Given the description of an element on the screen output the (x, y) to click on. 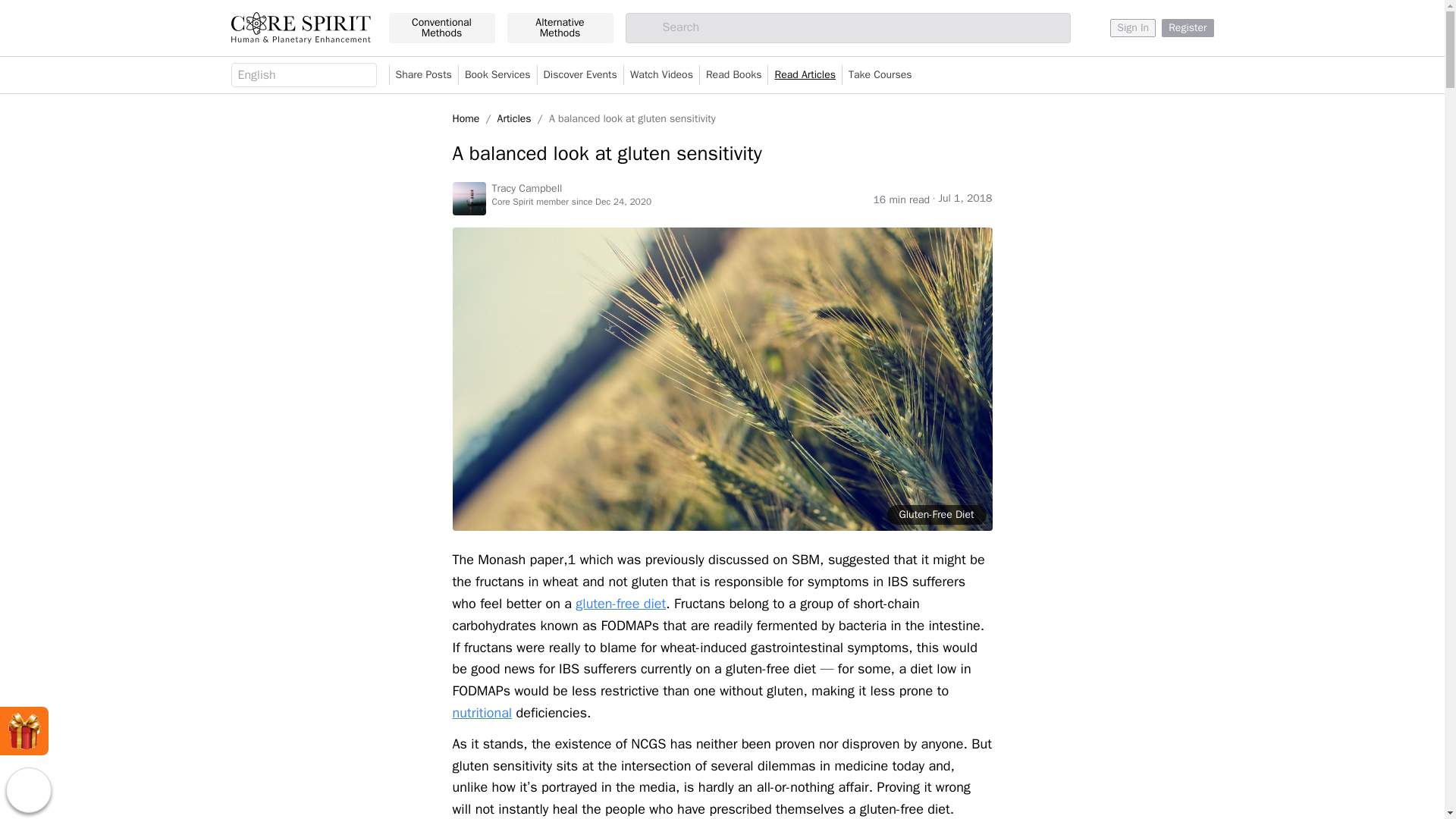
Conventional Methods (441, 28)
Share Posts (423, 75)
Register (1186, 27)
Book Services (497, 75)
Alternative Methods (559, 28)
Back to top (27, 790)
Sign In (1132, 27)
